Given the description of an element on the screen output the (x, y) to click on. 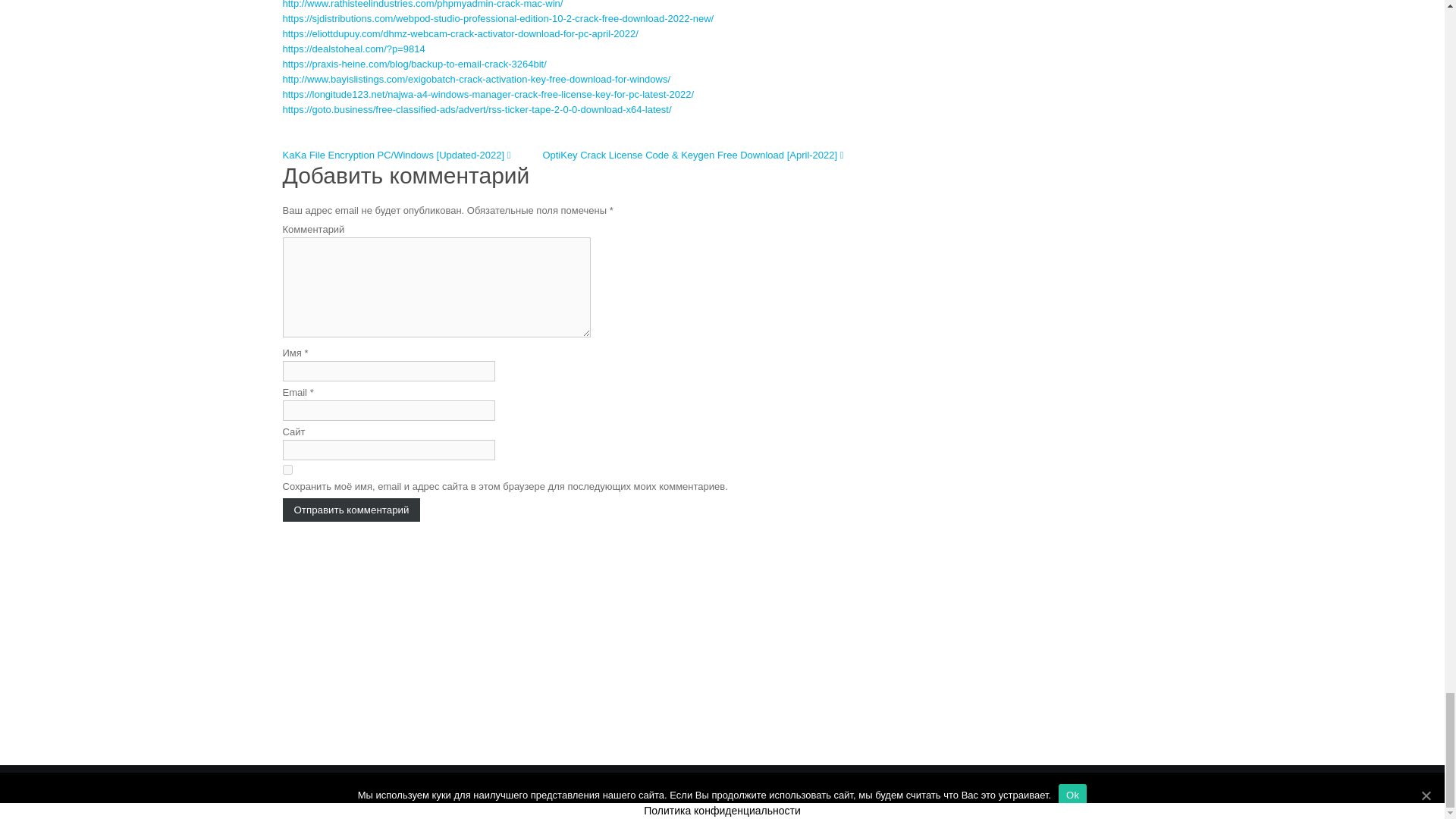
yes (287, 470)
